Given the description of an element on the screen output the (x, y) to click on. 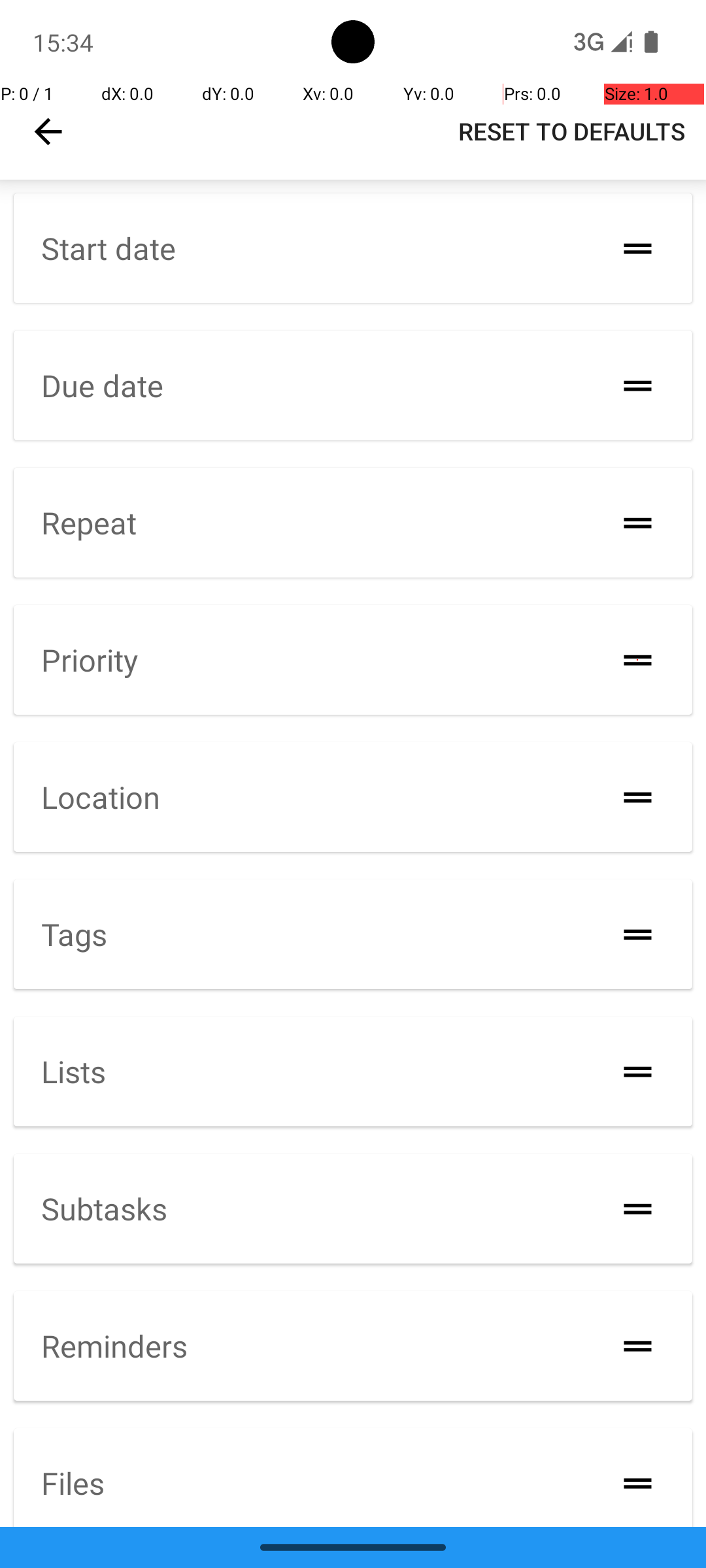
RESET TO DEFAULTS Element type: android.widget.Button (571, 131)
Start date Element type: android.widget.TextView (108, 247)
Due date Element type: android.widget.TextView (102, 384)
Repeat Element type: android.widget.TextView (88, 521)
Tags Element type: android.widget.TextView (74, 933)
Lists Element type: android.widget.TextView (73, 1070)
Subtasks Element type: android.widget.TextView (104, 1207)
Reminders Element type: android.widget.TextView (114, 1345)
